Given the description of an element on the screen output the (x, y) to click on. 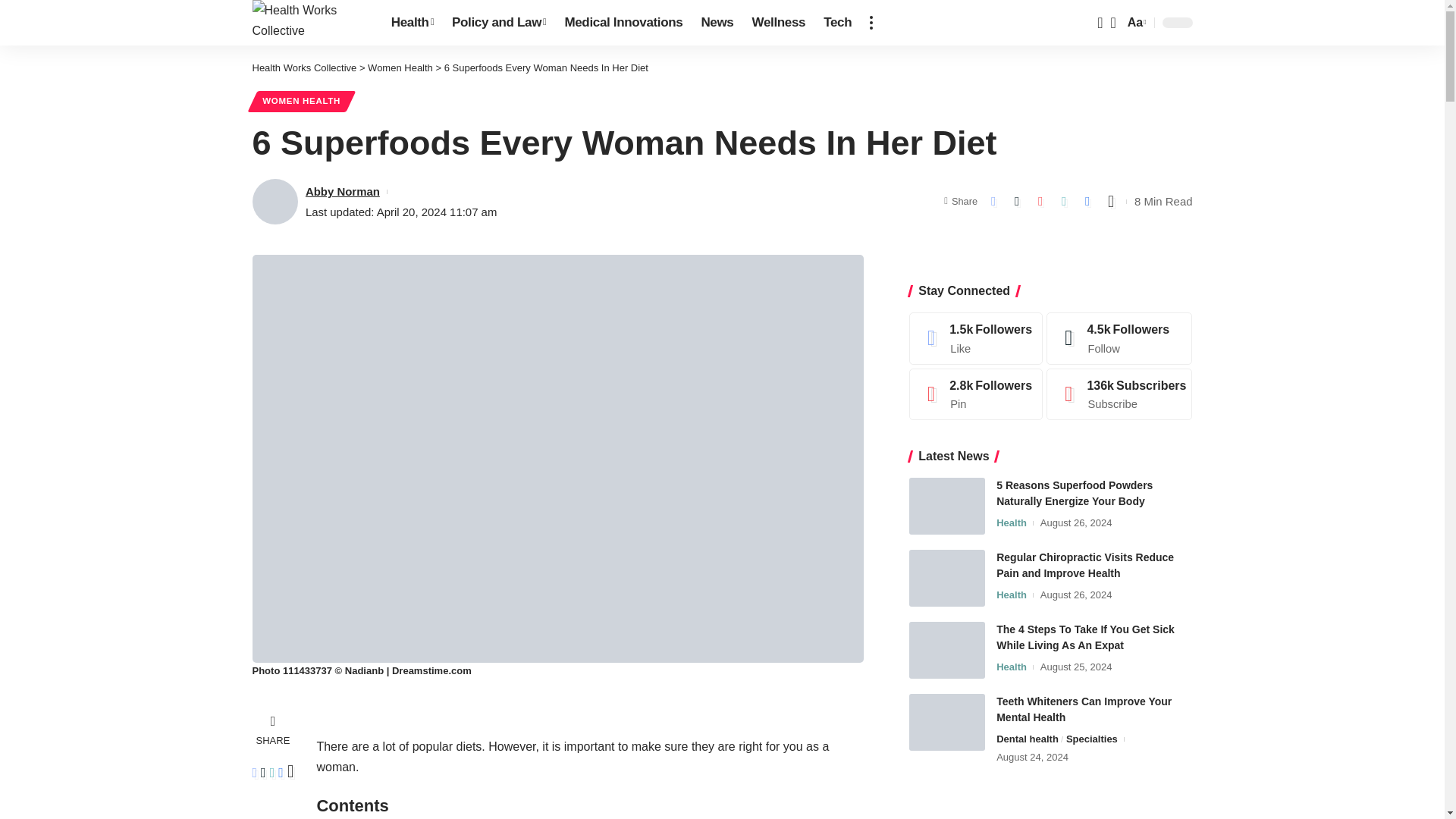
Wellness (778, 22)
Teeth Whiteners Can Improve Your Mental Health (946, 722)
Health Works Collective (308, 22)
The 4 Steps To Take If You Get Sick While Living As An Expat (946, 649)
News (716, 22)
Regular Chiropractic Visits Reduce Pain and Improve Health (946, 577)
Medical Innovations (622, 22)
Policy and Law (498, 22)
Health (411, 22)
Go to Health Works Collective. (303, 67)
